Given the description of an element on the screen output the (x, y) to click on. 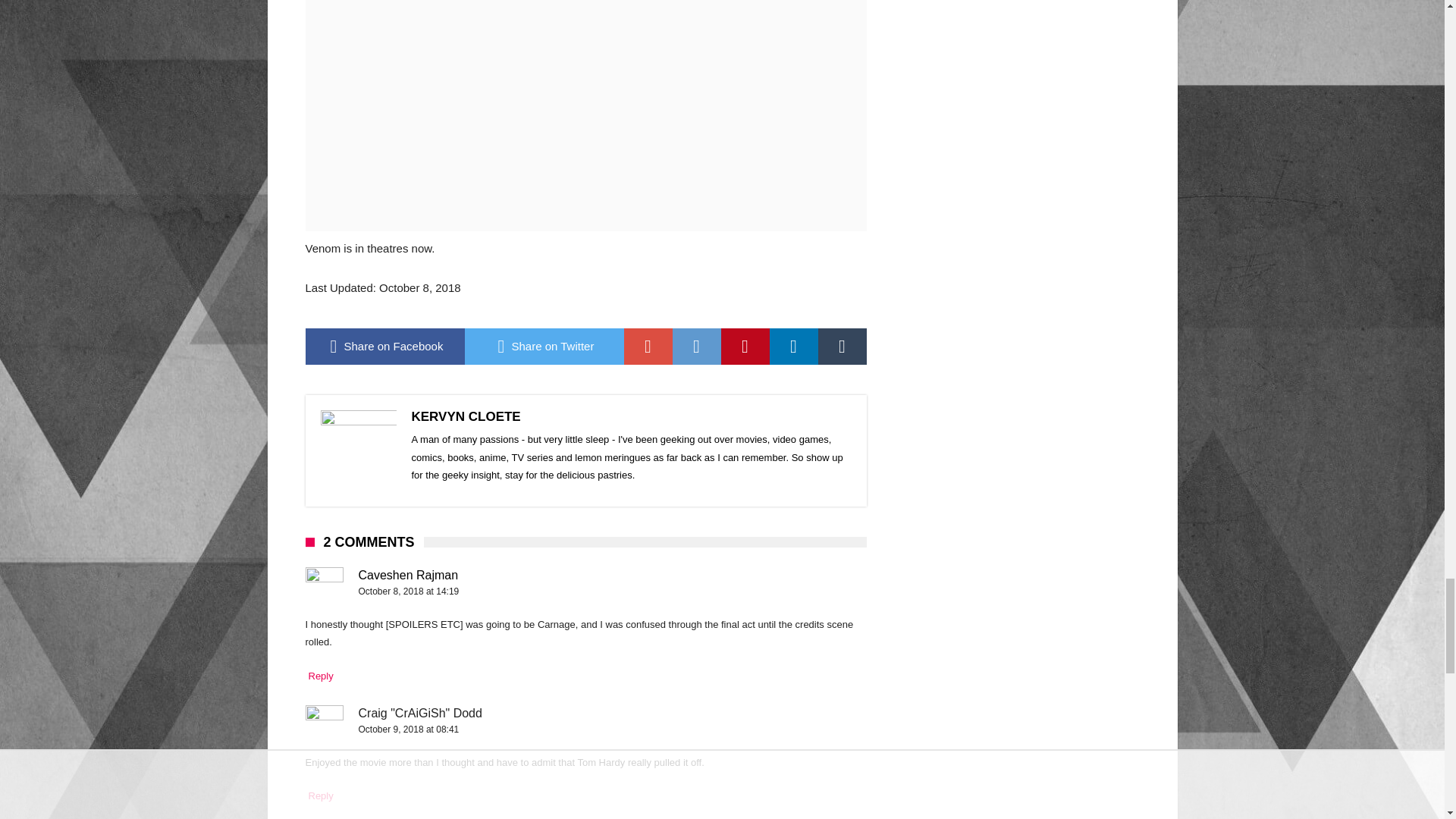
Share on Facebook (384, 346)
Share on Twitter (543, 346)
Share on Reddit (695, 346)
